Given the description of an element on the screen output the (x, y) to click on. 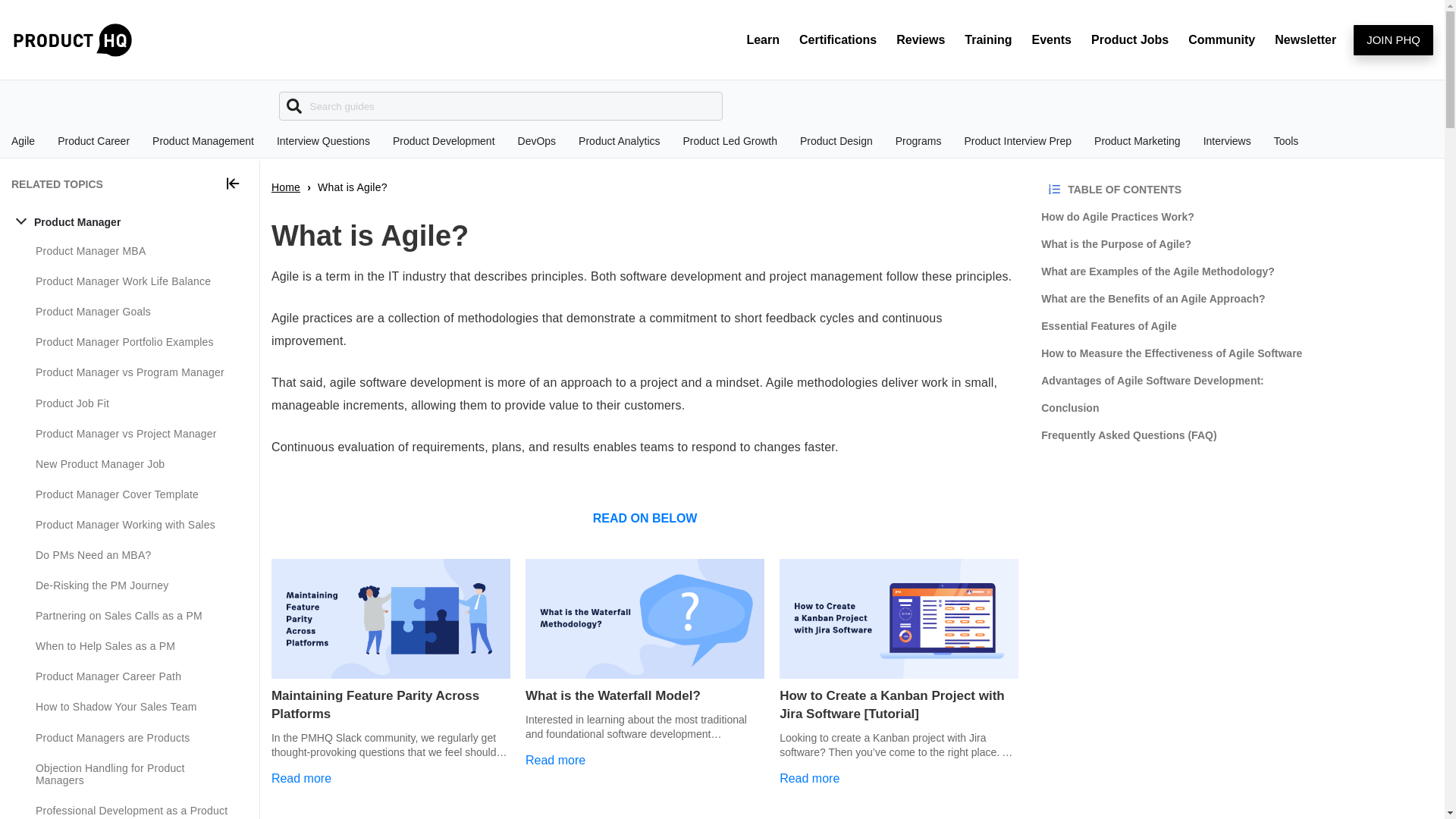
What is the Purpose of Agile? (1236, 244)
Advantages of Agile Software Development: (1236, 380)
What are the Benefits of an Agile Approach? (1236, 298)
Certifications (837, 39)
Product Design (835, 141)
Newsletter (1305, 39)
Learn (762, 39)
Events (1051, 39)
Product Interview Prep (1017, 141)
Reviews (920, 39)
Product Led Growth (729, 141)
Product Management (202, 141)
JOIN PHQ (1393, 40)
Community (1221, 39)
How do Agile Practices Work? (1236, 216)
